Given the description of an element on the screen output the (x, y) to click on. 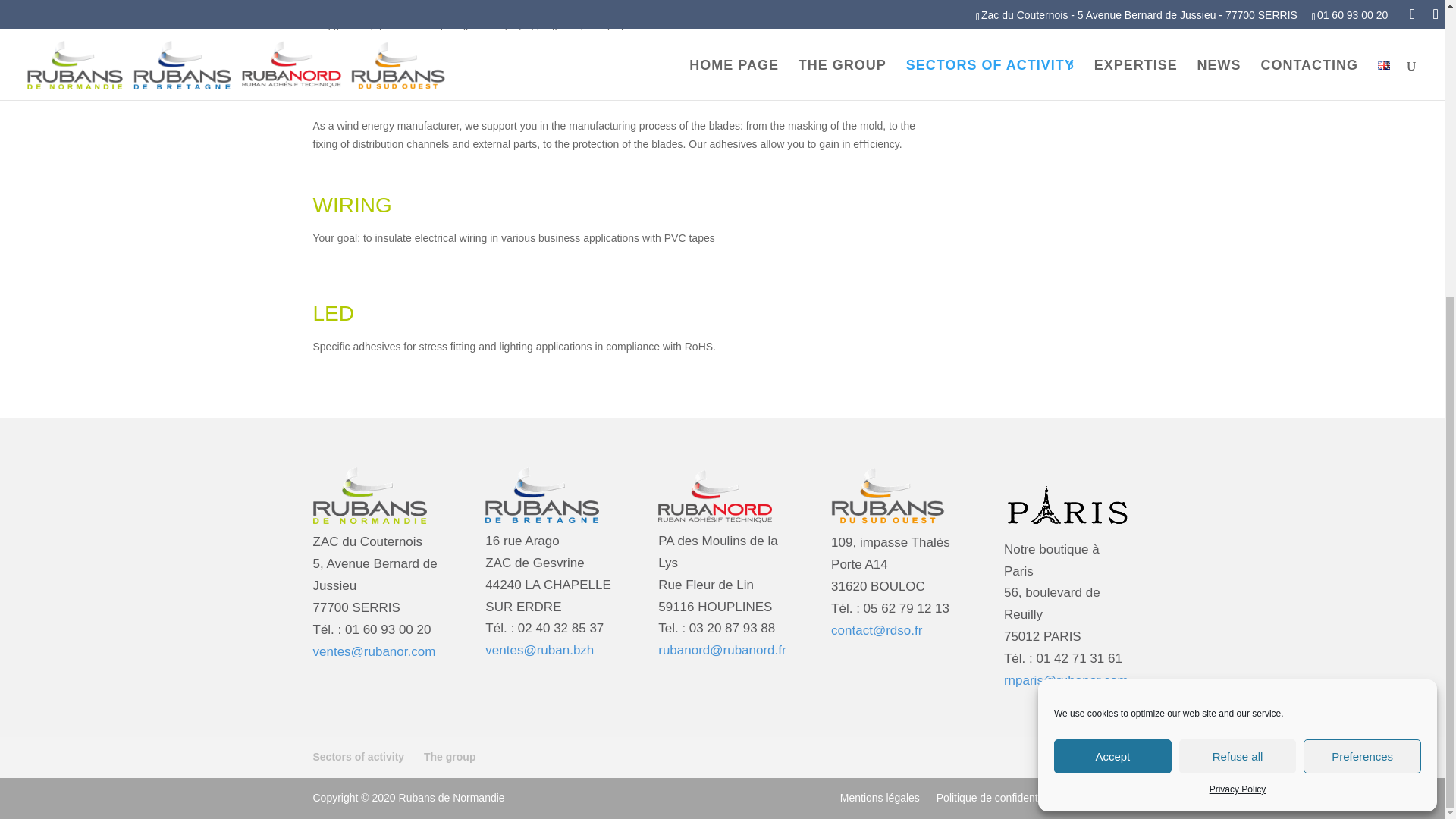
logo rubans bretagne (541, 494)
logos rubans Sud Ouest (887, 495)
Accept (1113, 297)
logo rubanord (714, 494)
logo rubans de normandie (369, 495)
Preferences (1362, 297)
Refuse all (1238, 297)
Privacy Policy (1237, 331)
boutique paris rdn logo (1067, 498)
